Given the description of an element on the screen output the (x, y) to click on. 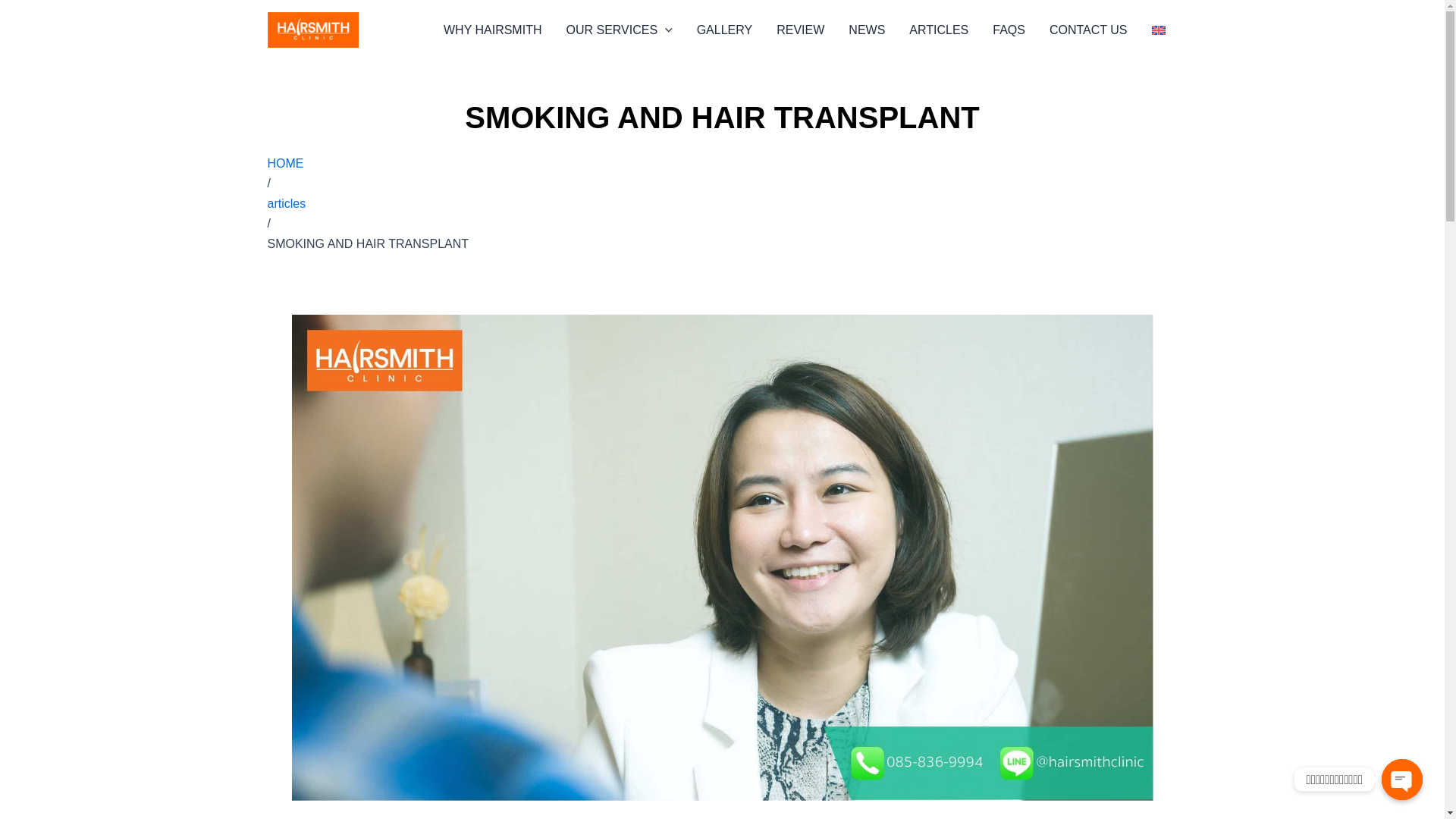
WHY HAIRSMITH (491, 30)
articles (285, 203)
CONTACT US (1088, 30)
NEWS (865, 30)
HOME (284, 163)
OUR SERVICES (618, 30)
GALLERY (724, 30)
REVIEW (799, 30)
ARTICLES (937, 30)
FAQS (1007, 30)
articles (285, 203)
HOME (284, 163)
